Given the description of an element on the screen output the (x, y) to click on. 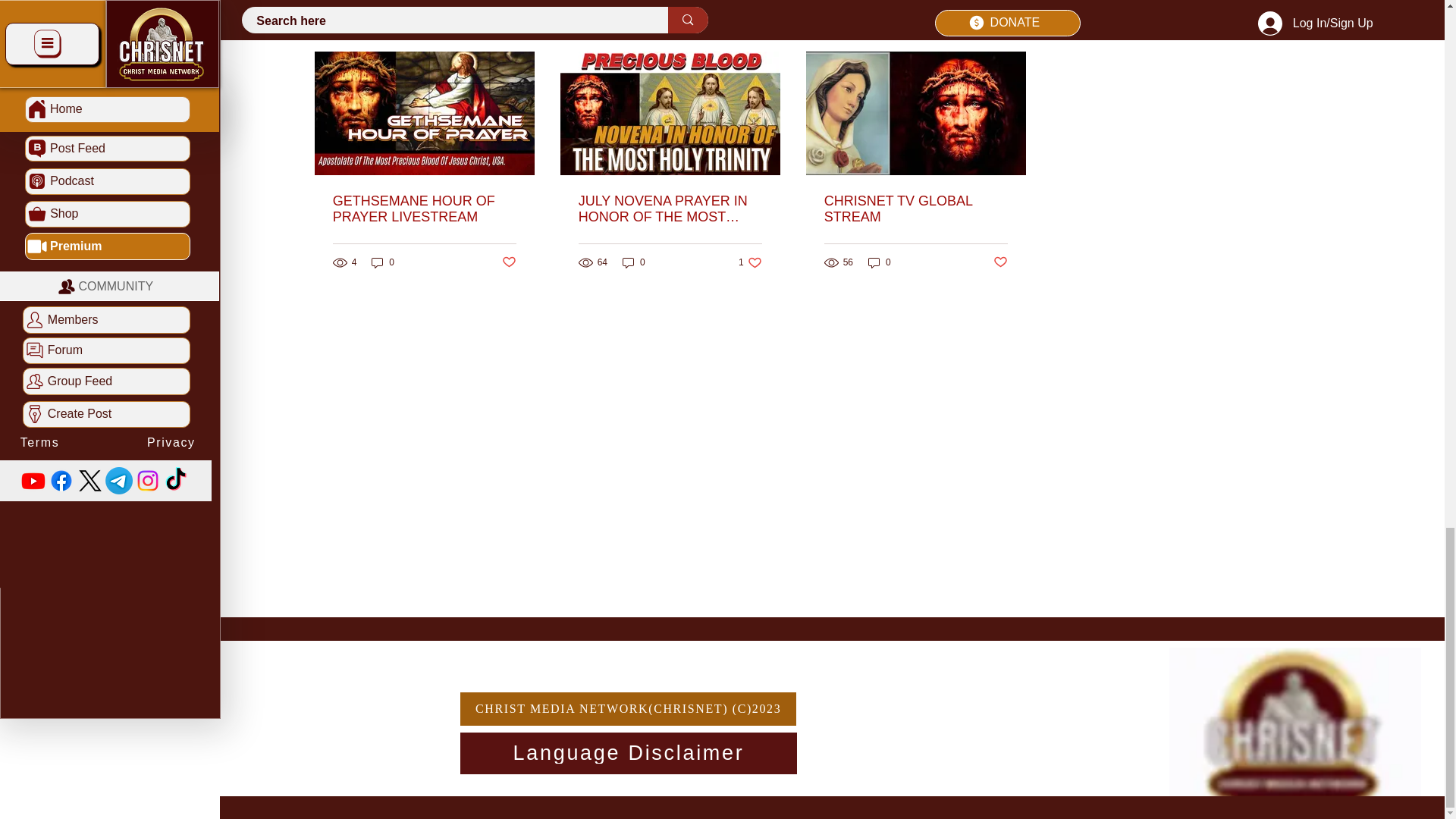
JULY NOVENA PRAYER IN HONOR OF THE MOST HOLY TRINITY (669, 209)
0 (382, 262)
GETHSEMANE HOUR OF PRAYER LIVESTREAM (424, 209)
See All (1010, 25)
Post not marked as liked (509, 262)
